Given the description of an element on the screen output the (x, y) to click on. 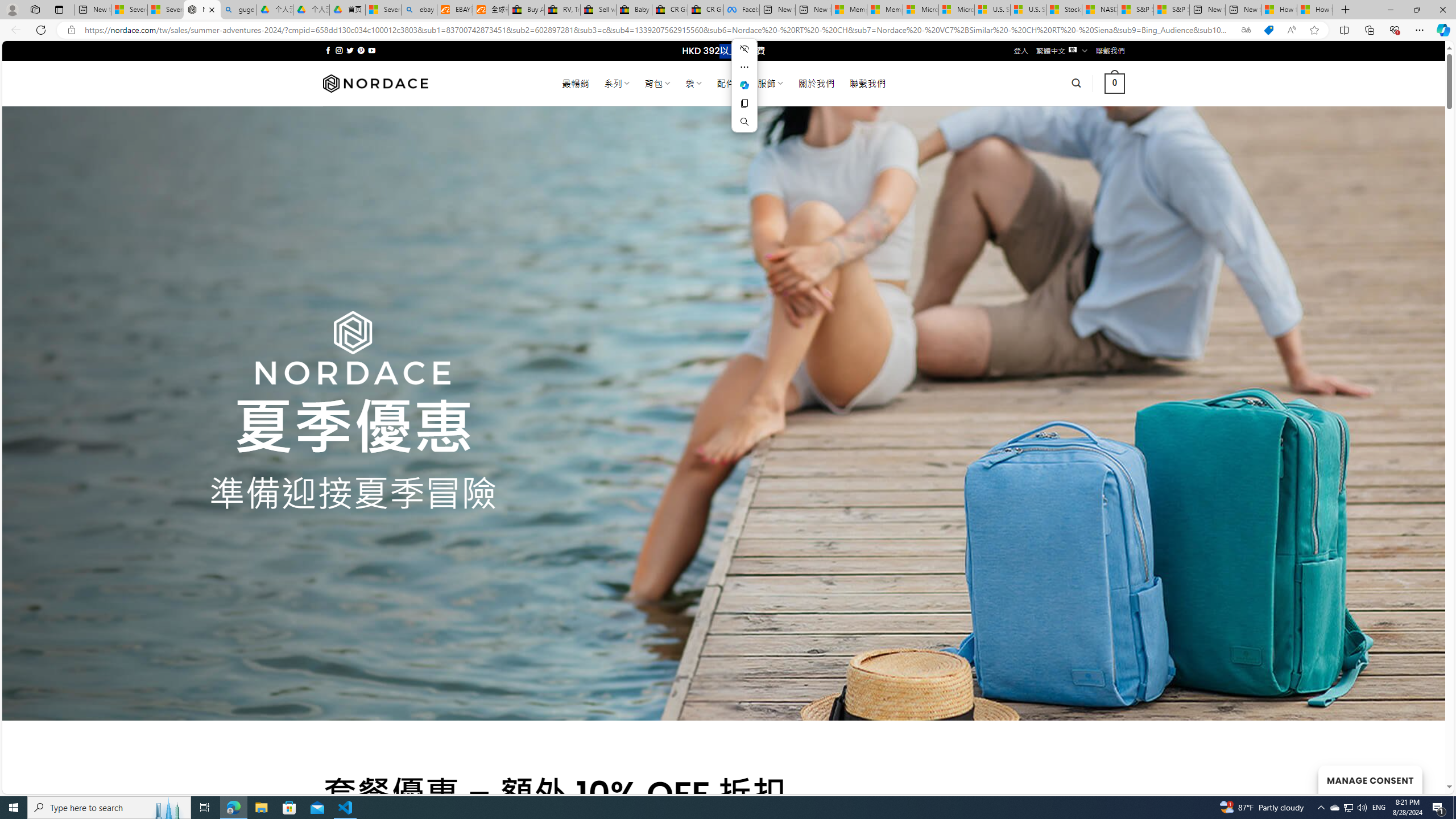
How to Use a Monitor With Your Closed Laptop (1315, 9)
Sell worldwide with eBay (598, 9)
Ask Copilot (744, 85)
This site has coupons! Shopping in Microsoft Edge (1268, 29)
